Given the description of an element on the screen output the (x, y) to click on. 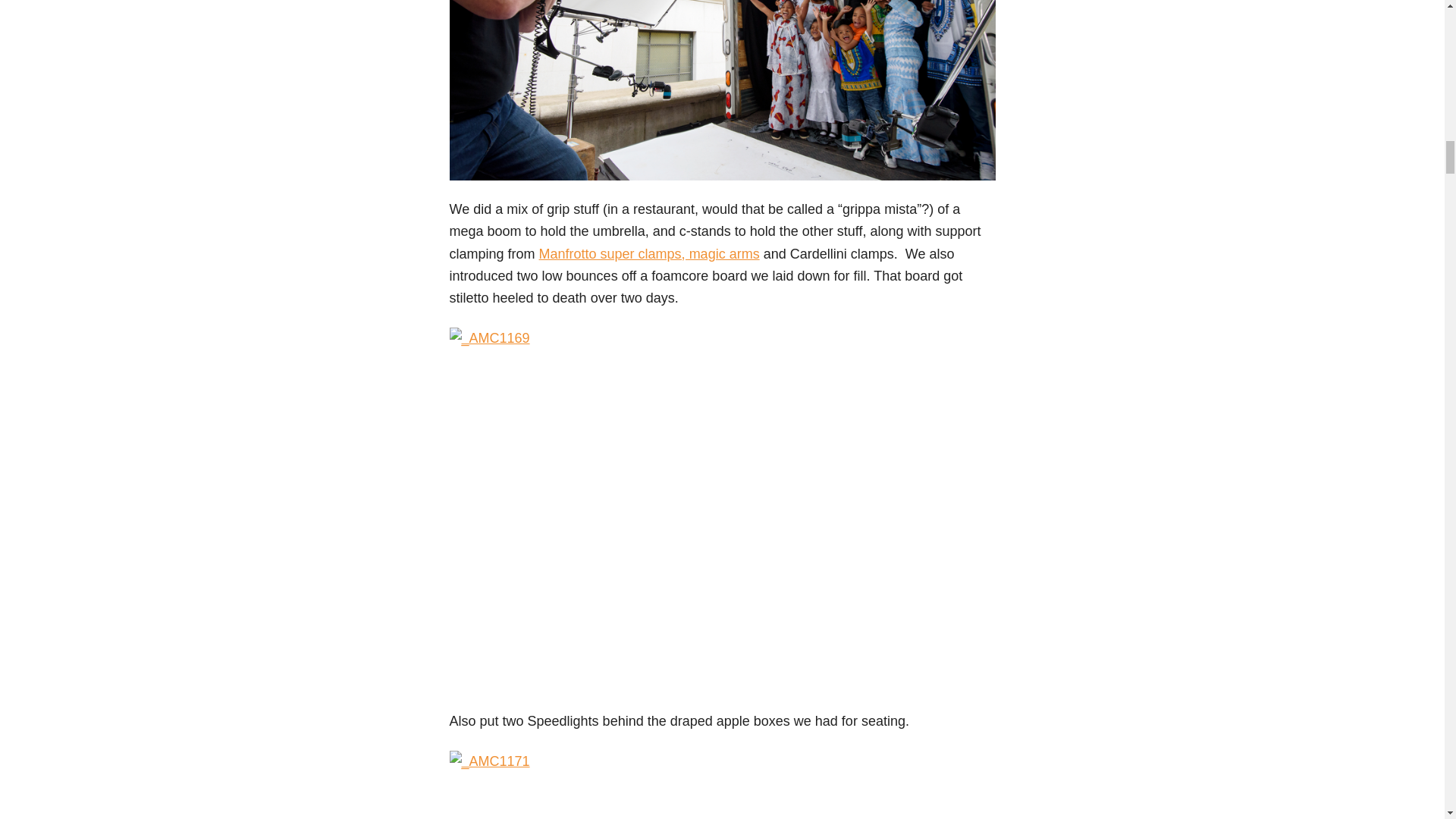
Manfrotto super clamps, magic arms (649, 253)
